Given the description of an element on the screen output the (x, y) to click on. 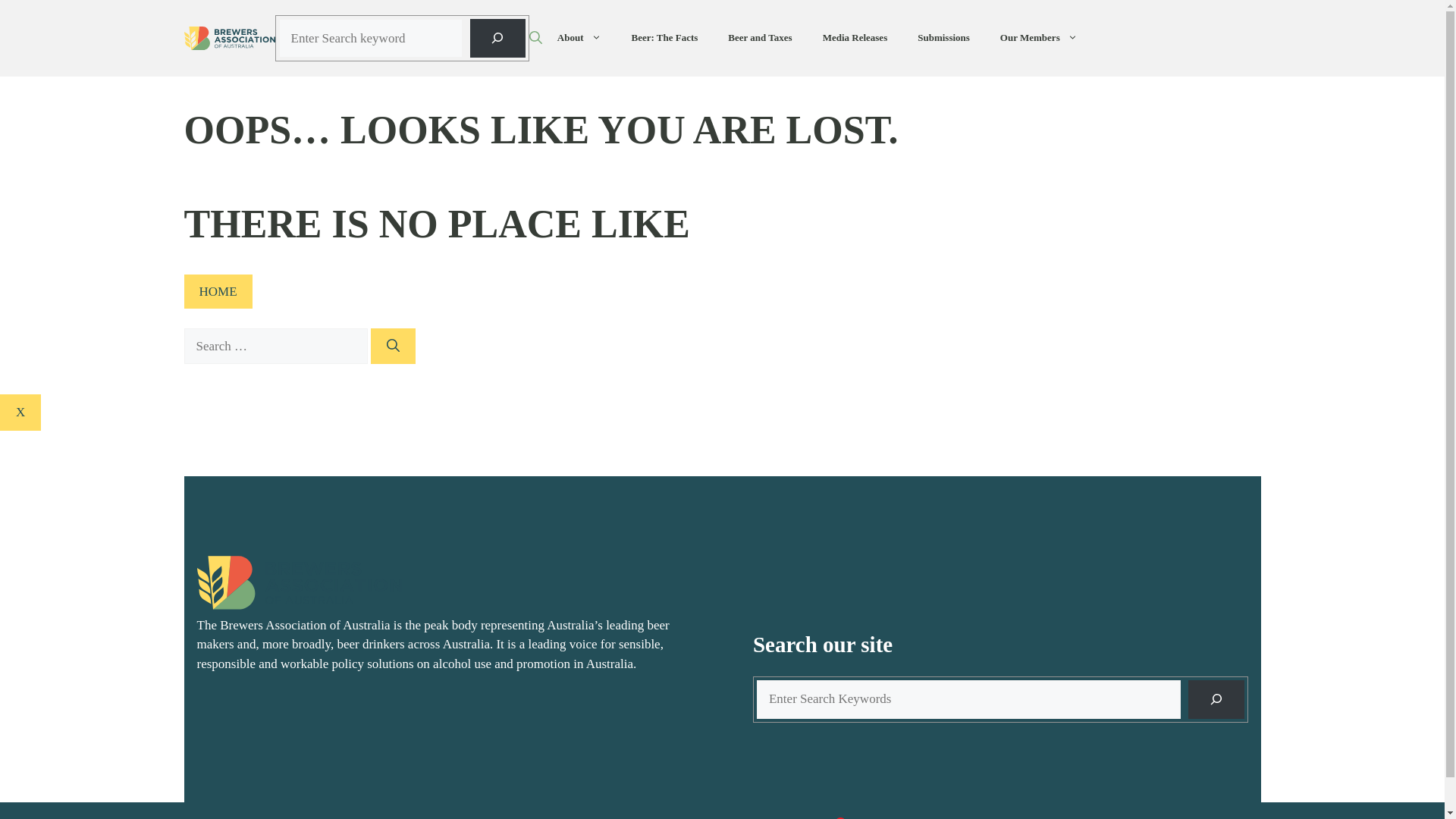
About Element type: text (579, 37)
Media Releases Element type: text (855, 37)
Submissions Element type: text (943, 37)
X Element type: text (20, 412)
Search for: Element type: hover (275, 346)
Beer: The Facts Element type: text (663, 37)
Our Members Element type: text (1038, 37)
HOME Element type: text (217, 291)
Beer and Taxes Element type: text (759, 37)
